Given the description of an element on the screen output the (x, y) to click on. 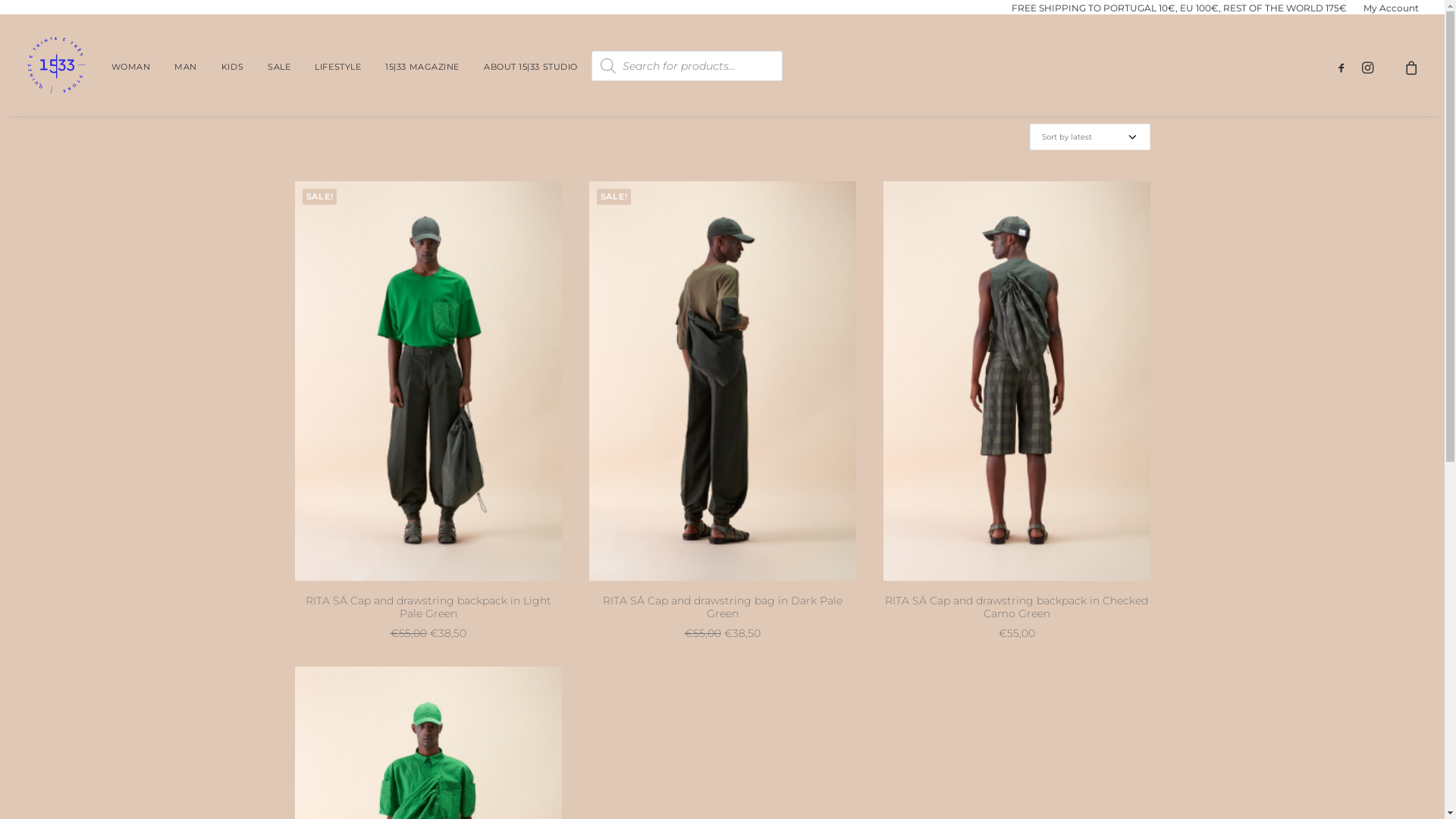
WOMAN Element type: text (130, 65)
cart Element type: hover (1400, 66)
KIDS Element type: text (232, 65)
ABOUT 15|33 STUDIO Element type: text (530, 65)
SALE Element type: text (279, 65)
SALE! Element type: text (427, 380)
15|33 MAGAZINE Element type: text (422, 65)
LIFESTYLE Element type: text (337, 65)
MAN Element type: text (185, 65)
SALE! Element type: text (721, 380)
